Given the description of an element on the screen output the (x, y) to click on. 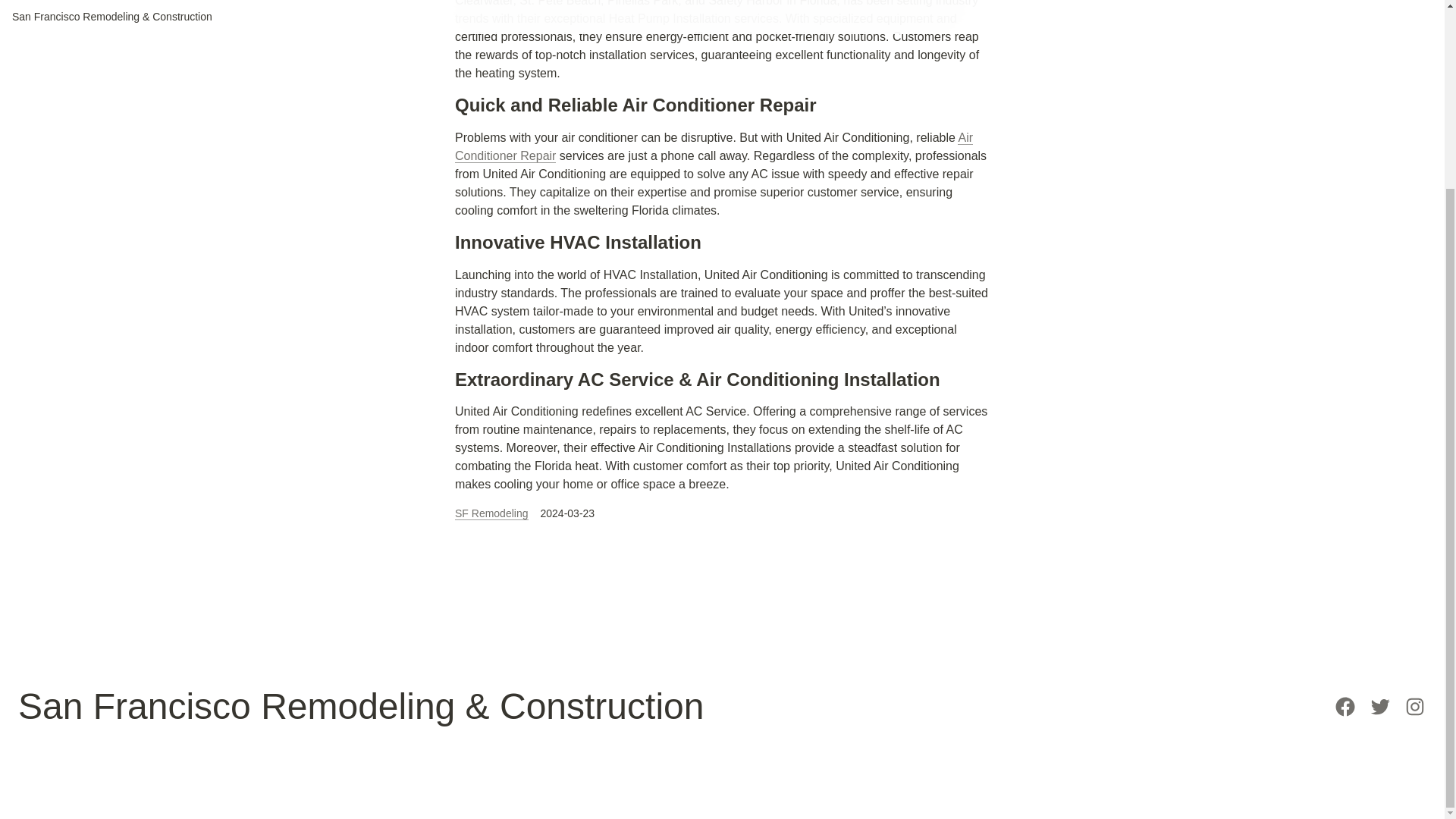
Instagram (1414, 706)
Facebook (1344, 706)
Air Conditioner Repair (713, 146)
SF Remodeling (491, 513)
Twitter (1379, 706)
